Given the description of an element on the screen output the (x, y) to click on. 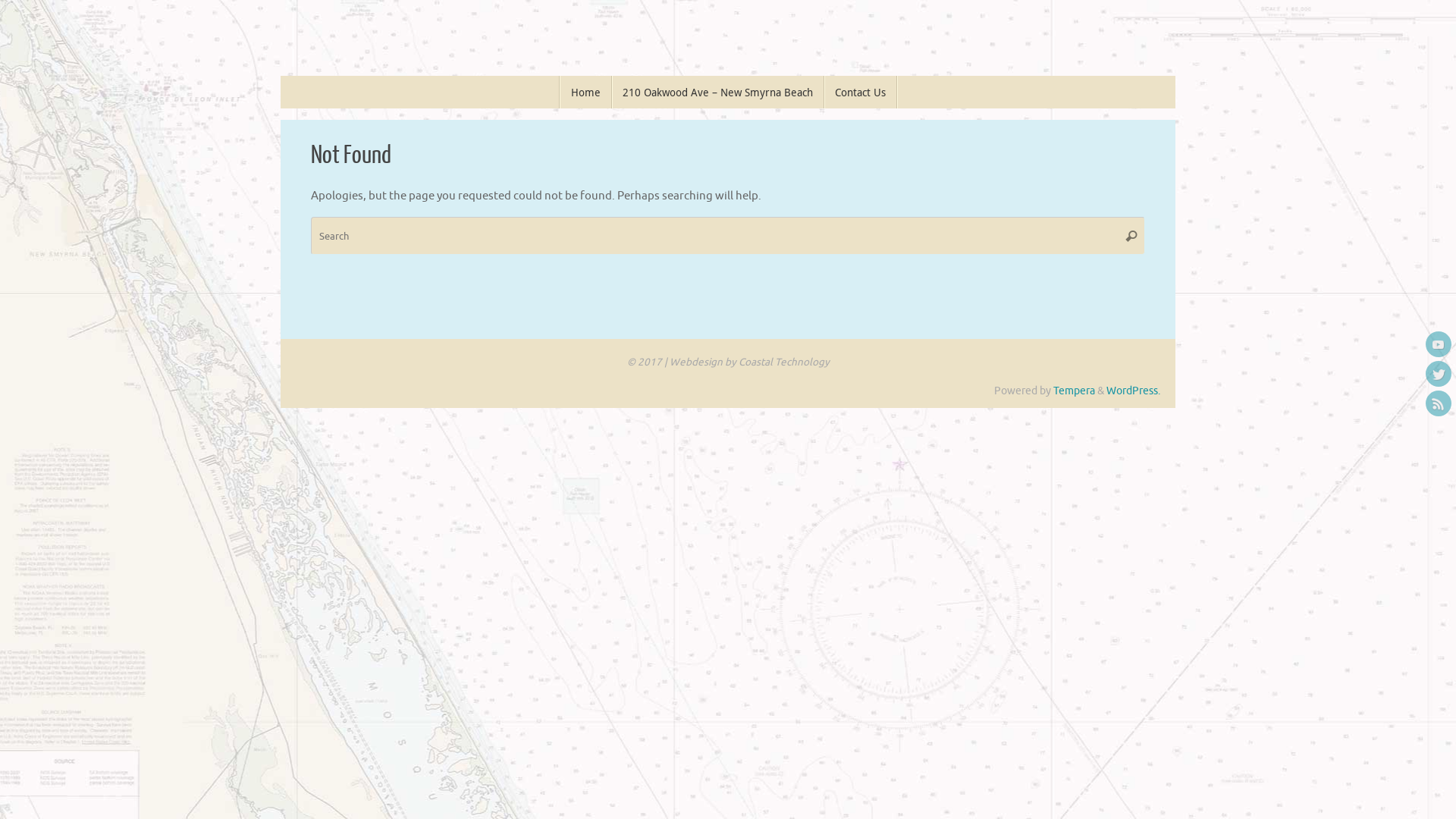
Twitter Element type: hover (1438, 373)
Home Element type: text (585, 91)
YouTube Element type: hover (1438, 344)
Tempera Element type: text (1074, 390)
Contact Us Element type: text (859, 91)
RSS Element type: hover (1438, 403)
WordPress. Element type: text (1133, 390)
